Given the description of an element on the screen output the (x, y) to click on. 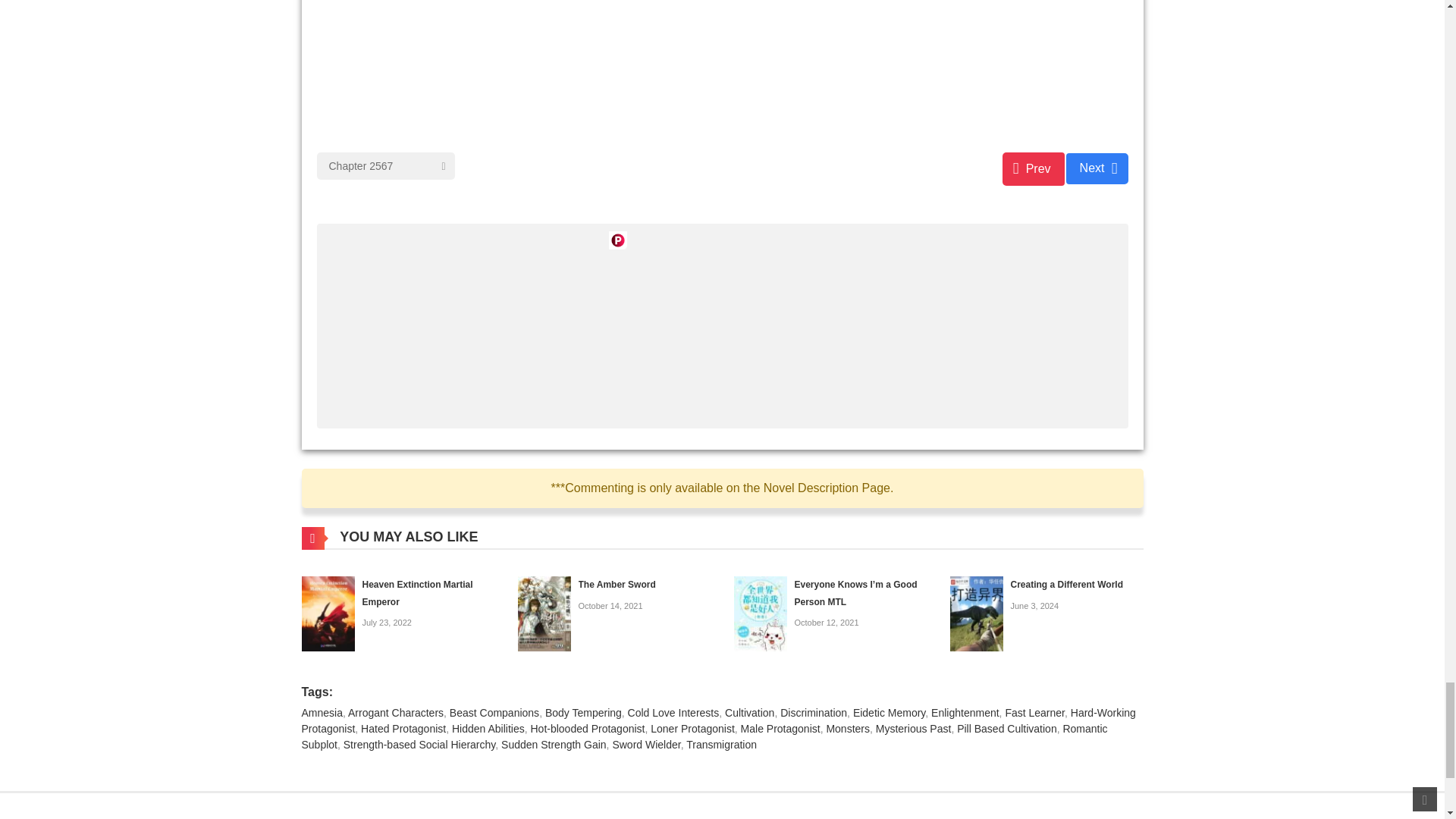
Chapter 2568 (1096, 168)
Heaven Extinction Martial Emperor (328, 612)
Heaven Extinction Martial Emperor (417, 593)
The Amber Sword (543, 612)
Chapter 2566 (1033, 168)
